Given the description of an element on the screen output the (x, y) to click on. 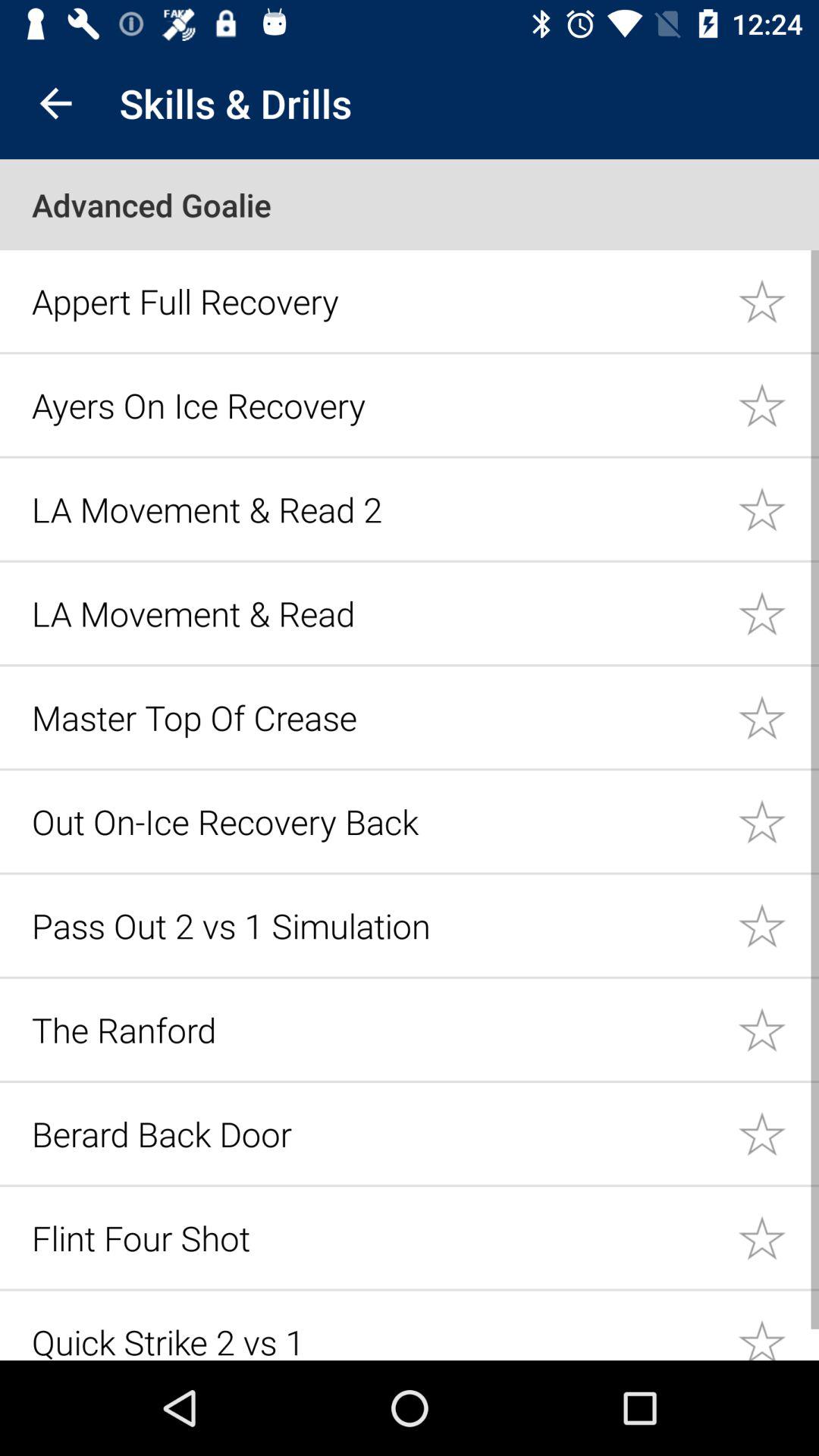
favorite the drill (778, 1326)
